Given the description of an element on the screen output the (x, y) to click on. 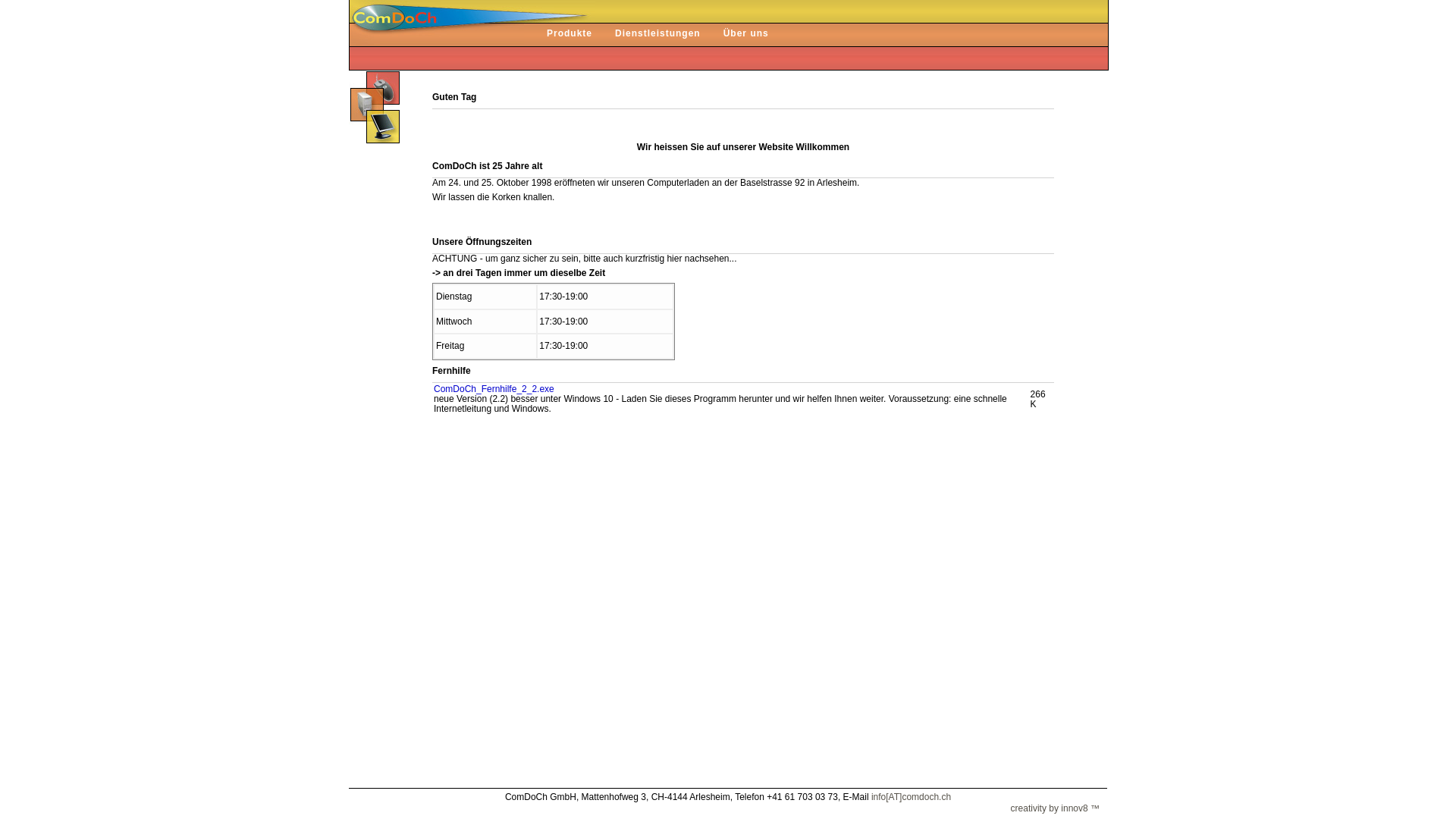
Dienstleistungen Element type: text (646, 34)
Produkte Element type: text (558, 34)
ComDoCh_Fernhilfe_2_2.exe Element type: text (493, 388)
info[AT]comdoch.ch Element type: text (910, 796)
